Given the description of an element on the screen output the (x, y) to click on. 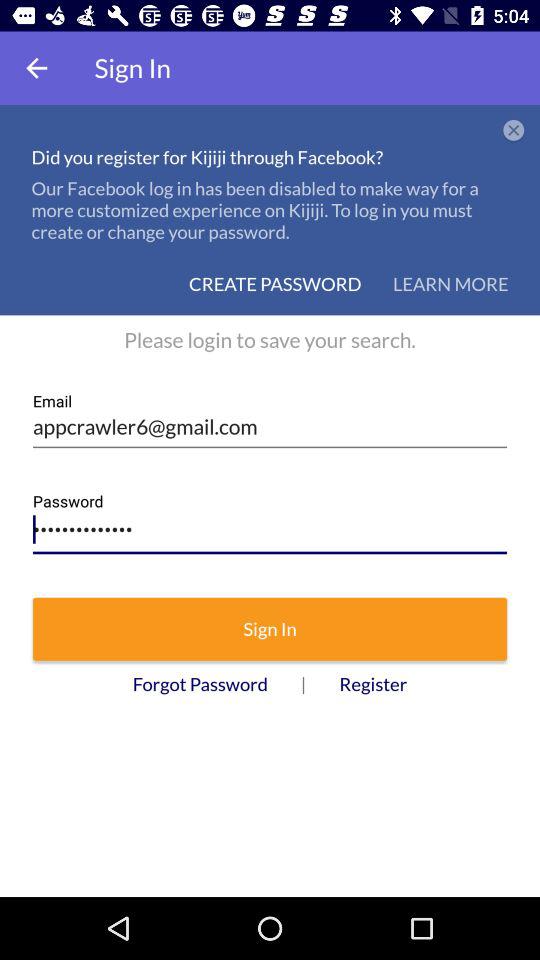
flip until appcrawler3116 (270, 524)
